Given the description of an element on the screen output the (x, y) to click on. 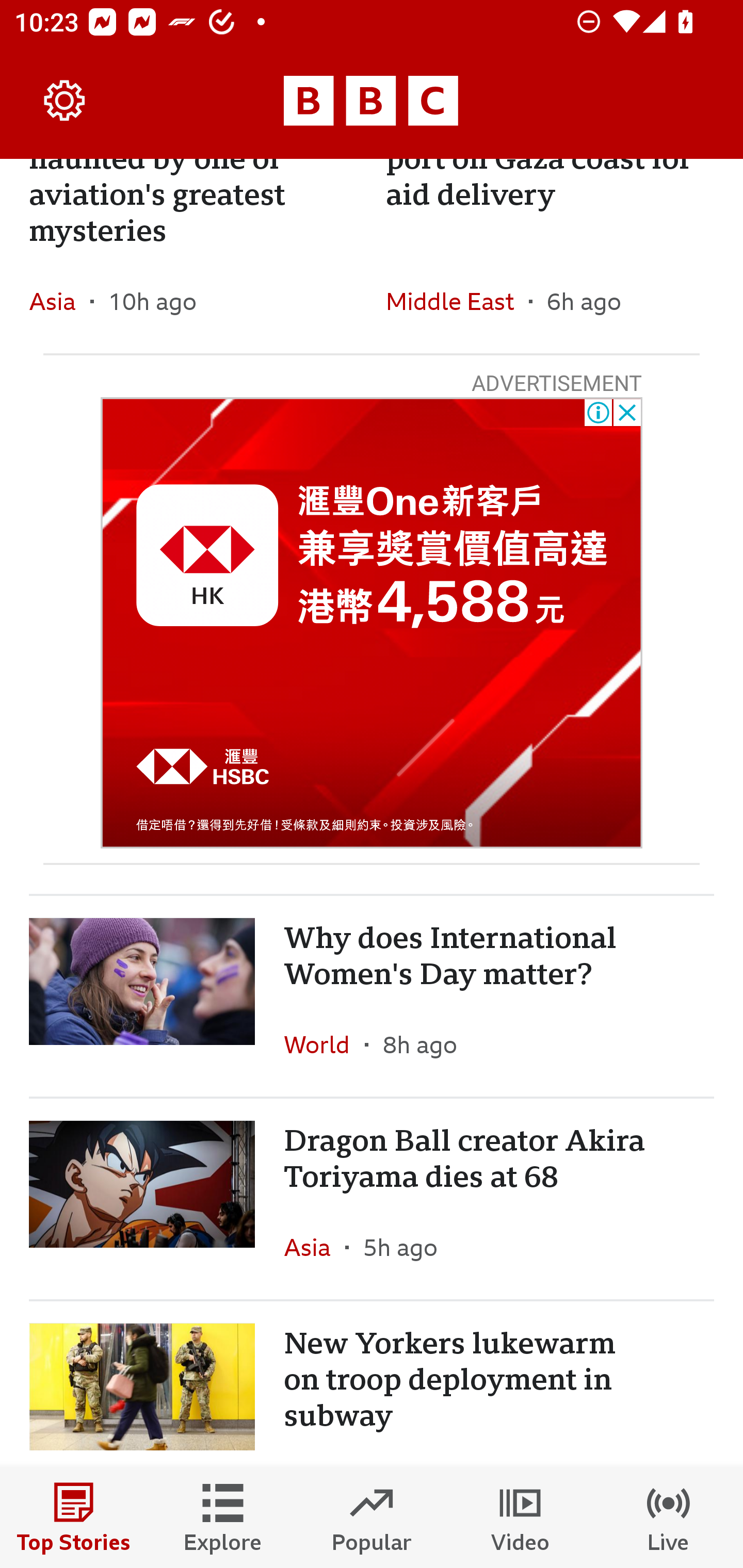
Settings (64, 100)
Asia In the section Asia (59, 300)
Middle East In the section Middle East (457, 300)
HSBC javascript:window.open(window (371, 622)
World In the section World (323, 1044)
Asia In the section Asia (314, 1246)
Explore (222, 1517)
Popular (371, 1517)
Video (519, 1517)
Live (668, 1517)
